Given the description of an element on the screen output the (x, y) to click on. 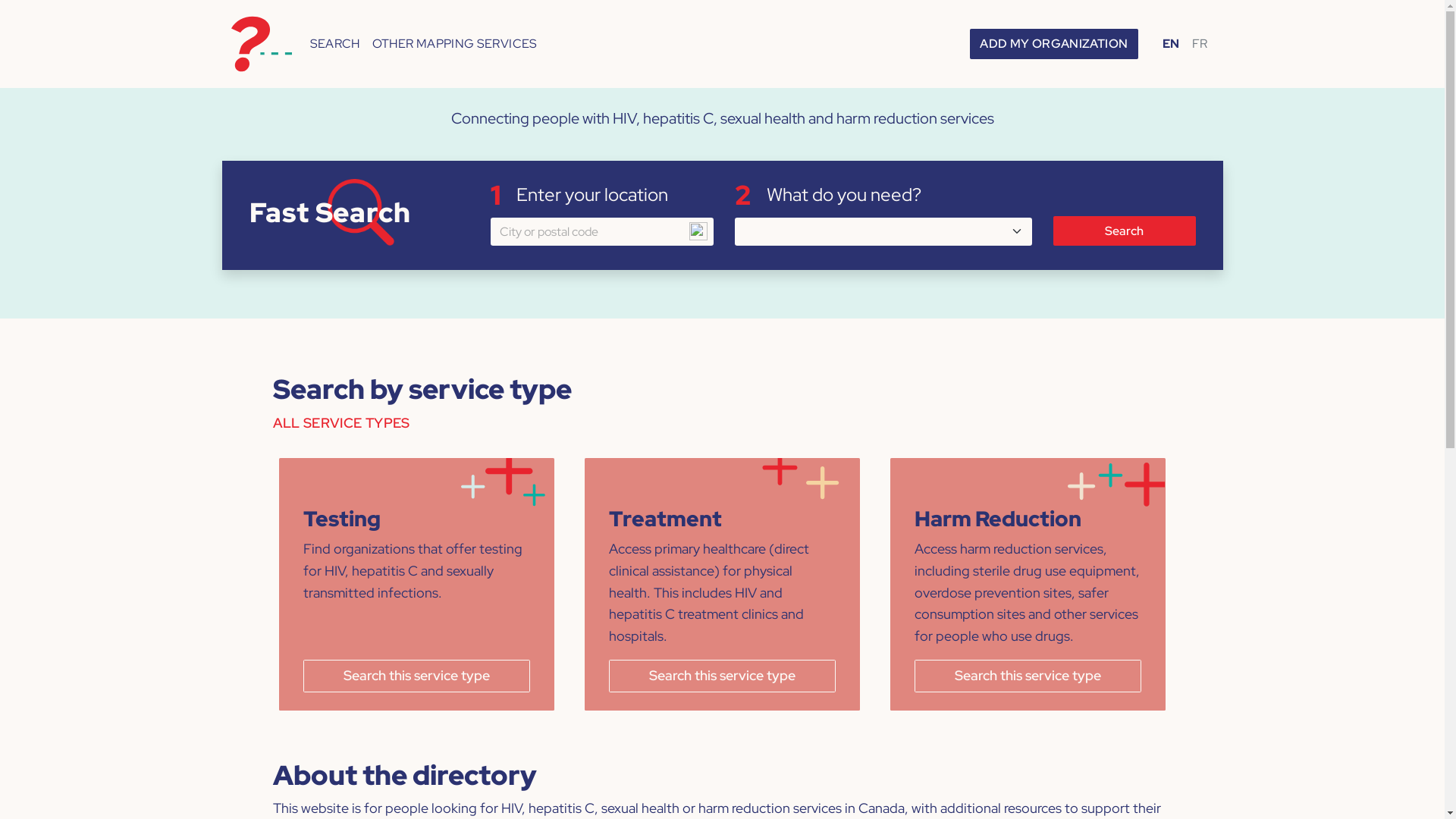
EN Element type: text (1171, 43)
Search this service type Element type: text (416, 675)
Search Element type: text (1123, 231)
SEARCH Element type: text (334, 43)
OTHER MAPPING SERVICES Element type: text (454, 43)
Search this service type Element type: text (1027, 675)
Search this service type Element type: text (721, 675)
ADD MY ORGANIZATION Element type: text (1053, 43)
ALL SERVICE TYPES Element type: text (341, 428)
FR Element type: text (1200, 43)
